Given the description of an element on the screen output the (x, y) to click on. 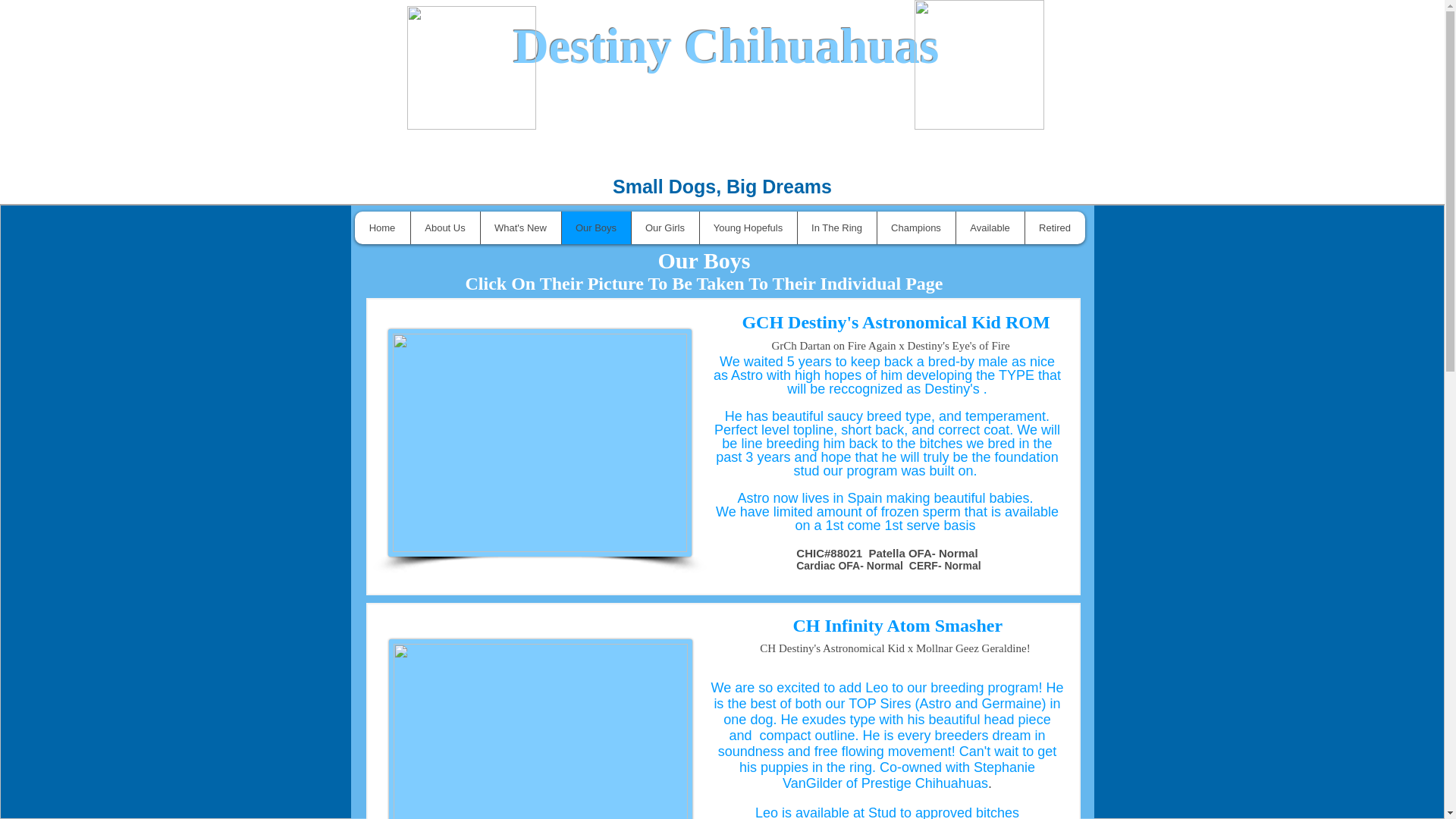
What's New (519, 227)
Home (382, 227)
Retired (1053, 227)
Our Boys (595, 227)
About Us (444, 227)
In The Ring (836, 227)
Our Girls (664, 227)
Champions (915, 227)
Lana final.jpg (470, 67)
Lana new LC.jpg (978, 64)
Available (990, 227)
Young Hopefuls (747, 227)
